Given the description of an element on the screen output the (x, y) to click on. 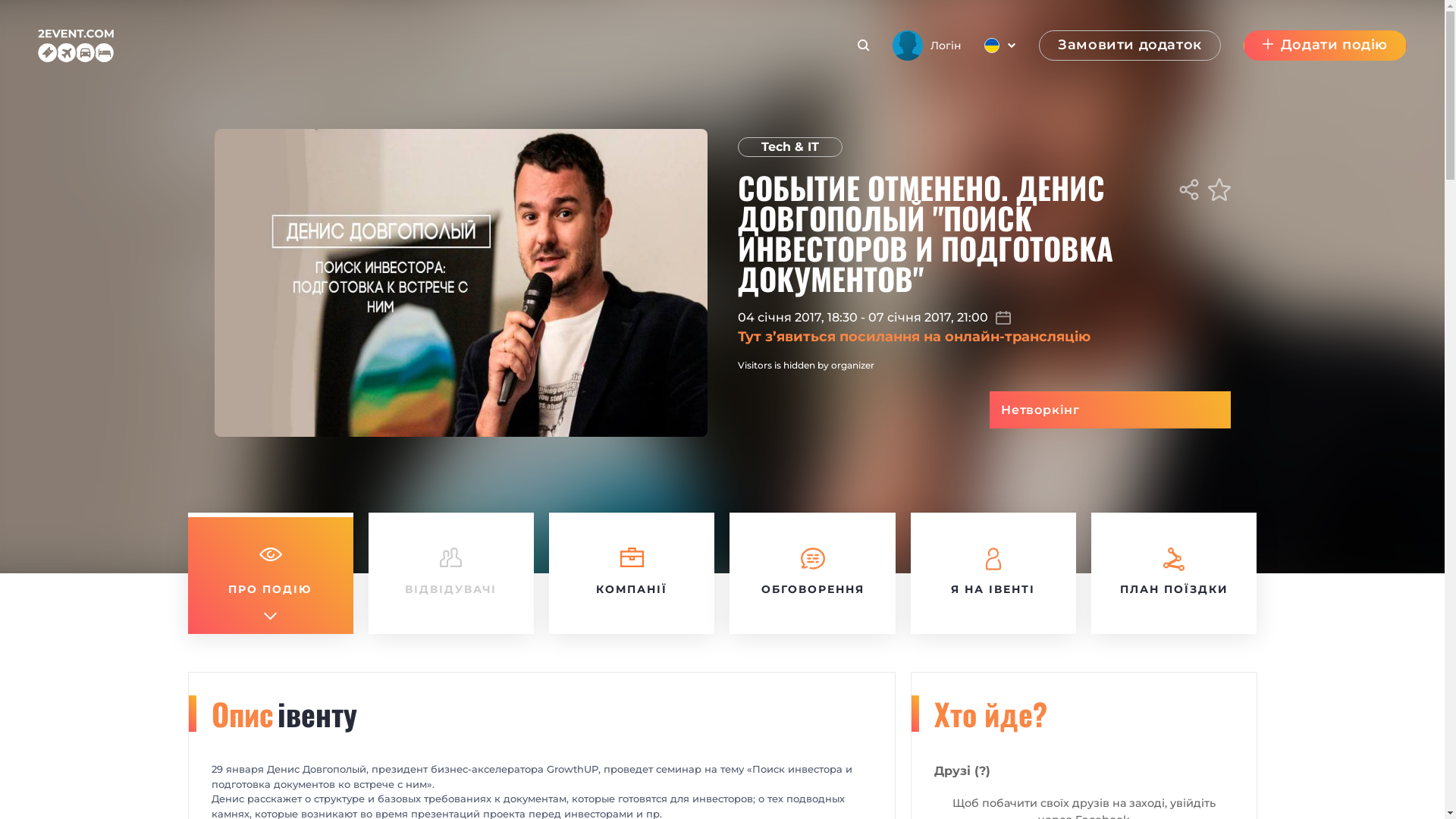
Tech & IT Element type: text (789, 146)
